Given the description of an element on the screen output the (x, y) to click on. 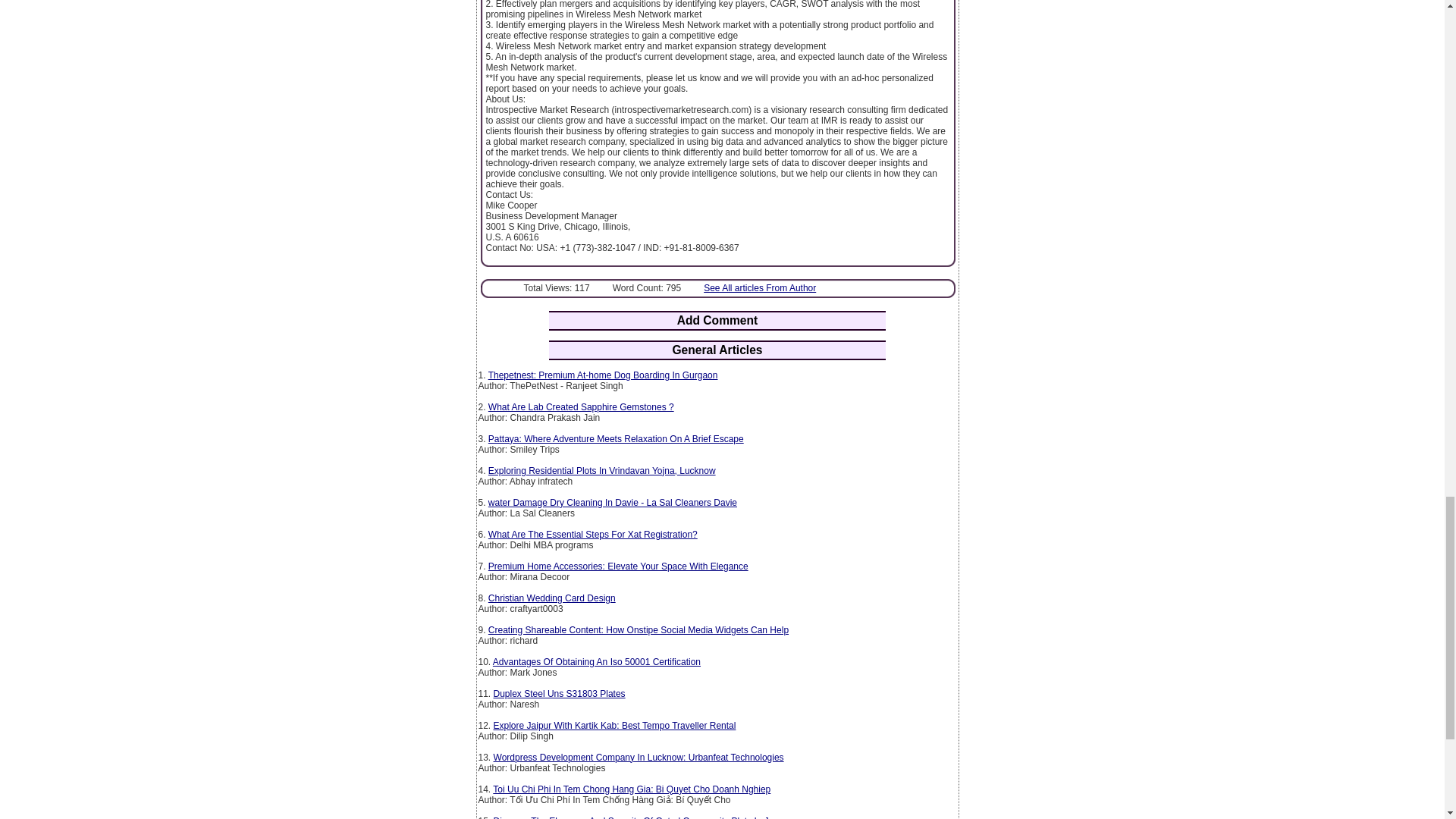
water Damage Dry Cleaning In Davie - La Sal Cleaners Davie (611, 502)
Thepetnest: Premium At-home Dog Boarding In Gurgaon (602, 375)
Advantages Of Obtaining An Iso 50001 Certification (596, 661)
Christian Wedding Card Design (551, 597)
What Are Lab Created Sapphire Gemstones ? (580, 407)
Exploring Residential Plots In Vrindavan Yojna, Lucknow (601, 470)
What Are The Essential Steps For Xat Registration? (592, 534)
